Given the description of an element on the screen output the (x, y) to click on. 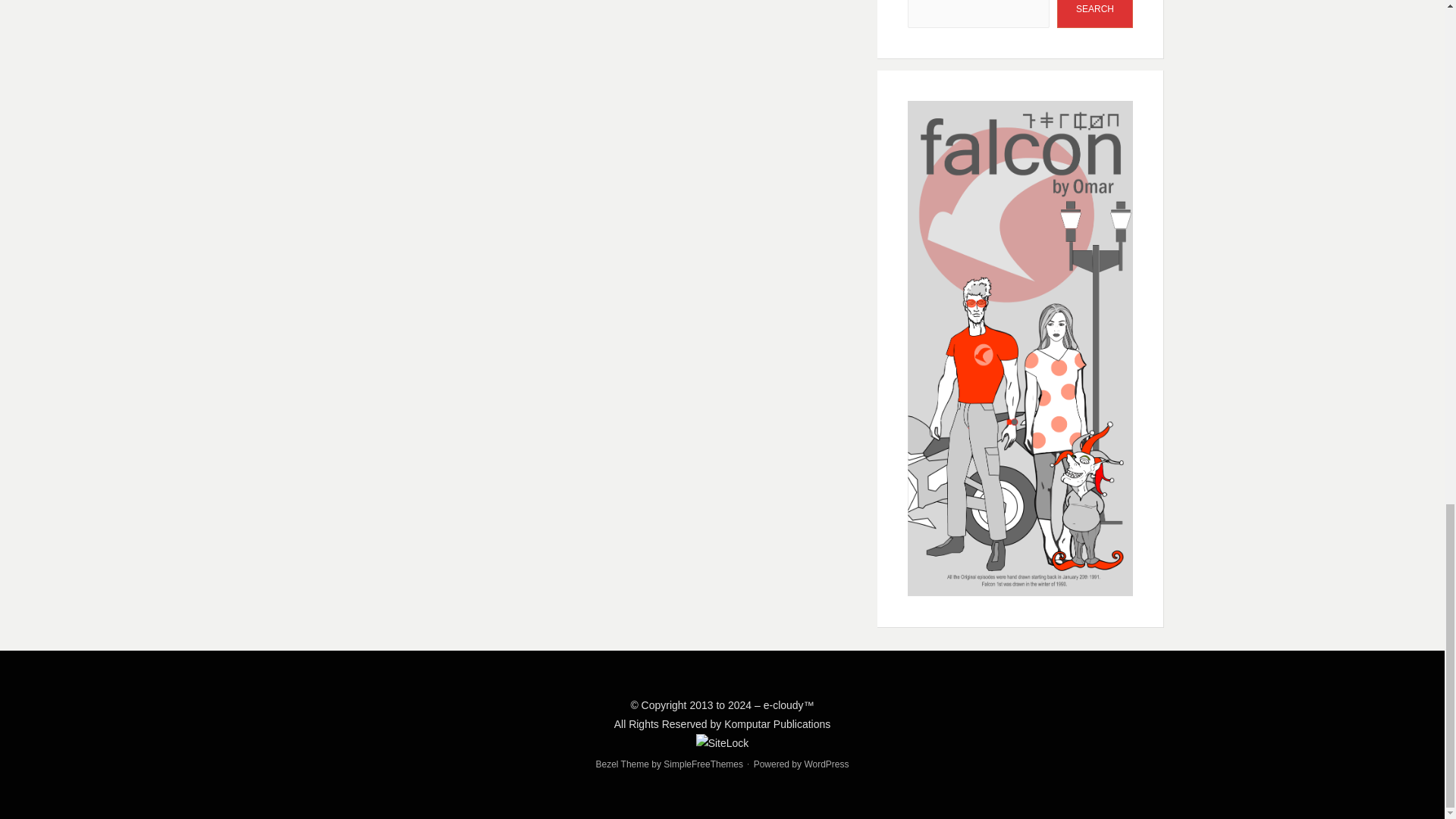
SimpleFreeThemes (702, 764)
SiteLock (722, 742)
WordPress (825, 764)
